Given the description of an element on the screen output the (x, y) to click on. 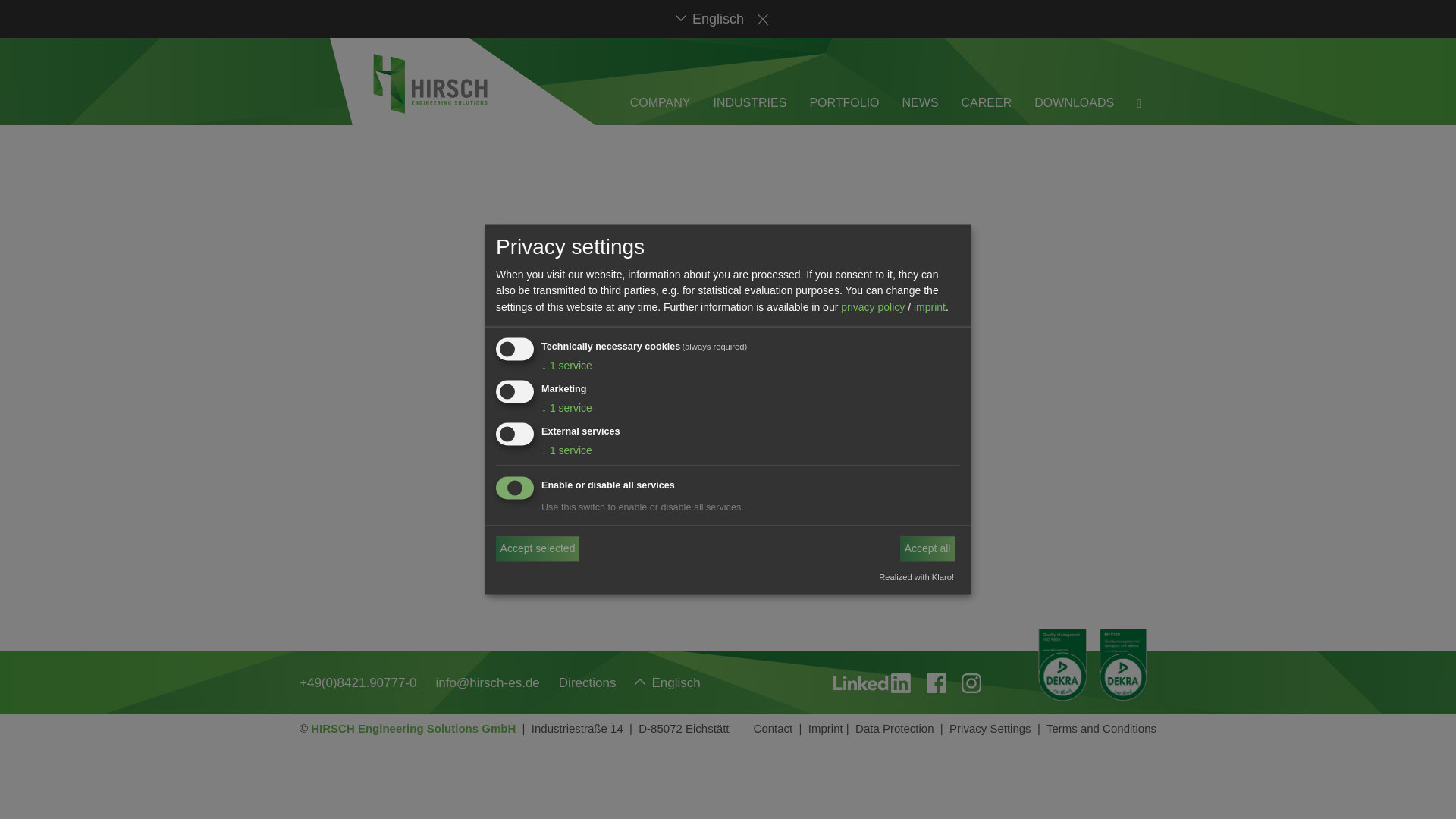
PORTFOLIO (844, 102)
LinkedIn (871, 682)
CAREER (985, 102)
This services is always required (712, 346)
INDUSTRIES (749, 102)
Englisch (709, 18)
DOWNLOADS (1073, 102)
Instagram (970, 682)
COMPANY (660, 102)
NEWS (920, 102)
Facebook (936, 682)
